Given the description of an element on the screen output the (x, y) to click on. 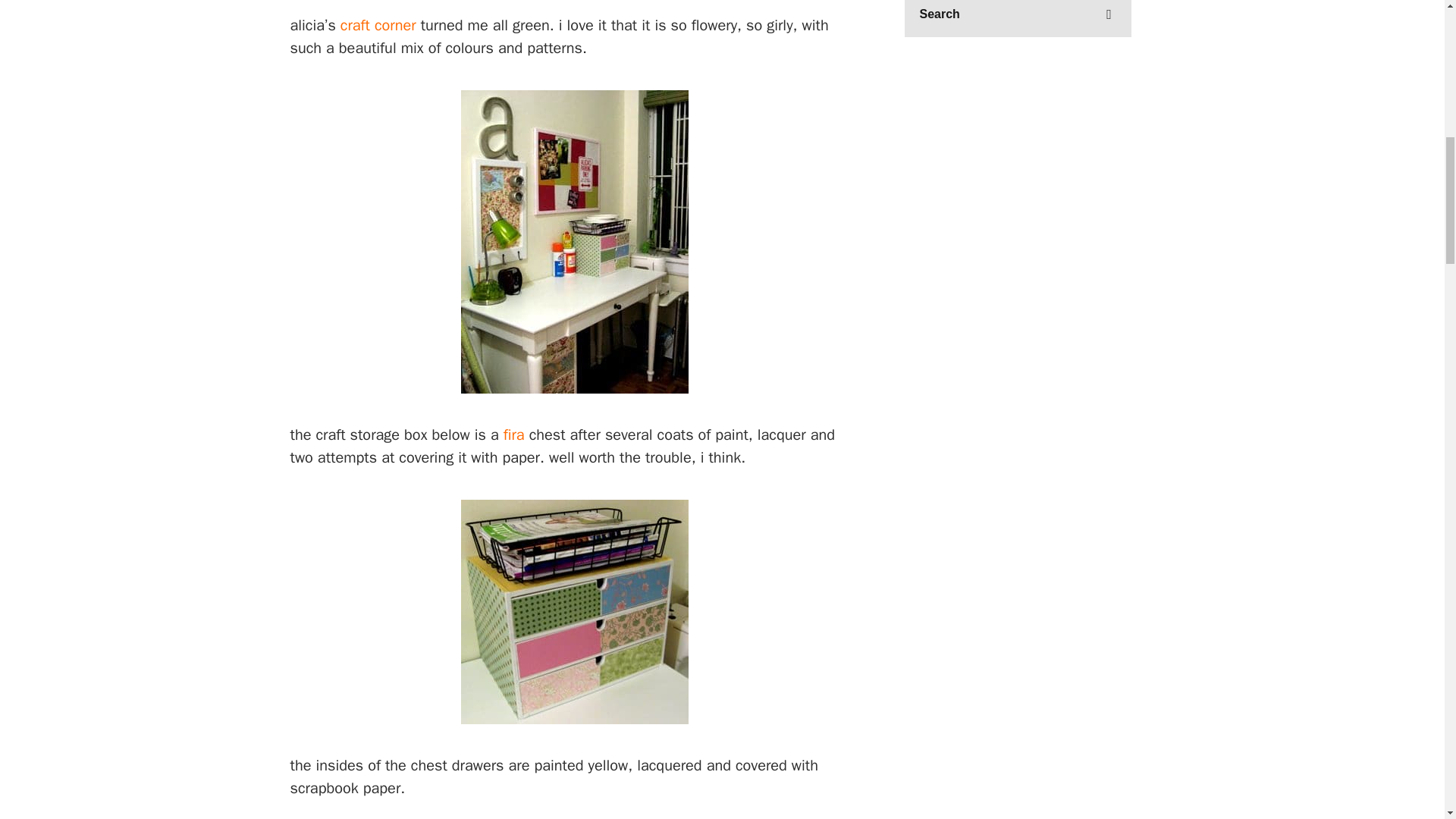
craft corner (378, 25)
fira (513, 434)
alicia's craft corner 5 (574, 611)
alicia's craft corner 6 (574, 816)
